Given the description of an element on the screen output the (x, y) to click on. 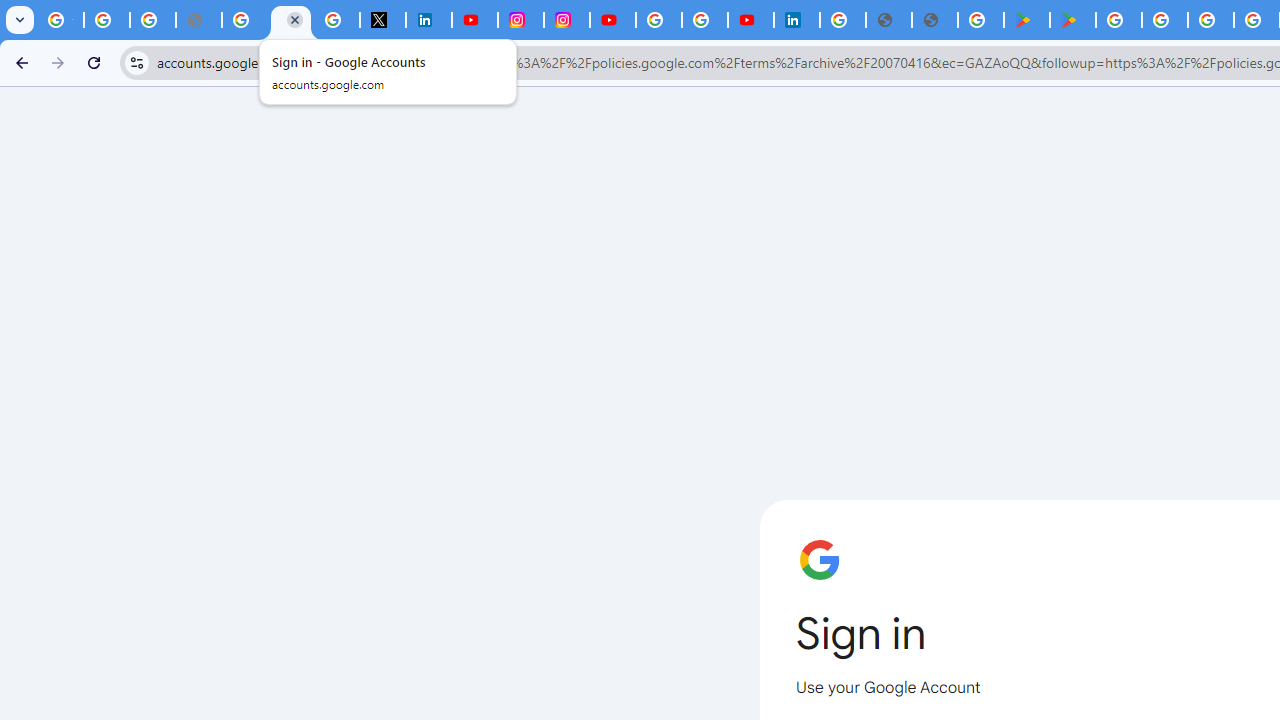
Identity verification via Persona | LinkedIn Help (797, 20)
YouTube Content Monetization Policies - How YouTube Works (474, 20)
google_privacy_policy_en.pdf (889, 20)
LinkedIn Privacy Policy (428, 20)
Android Apps on Google Play (1026, 20)
X (382, 20)
